Given the description of an element on the screen output the (x, y) to click on. 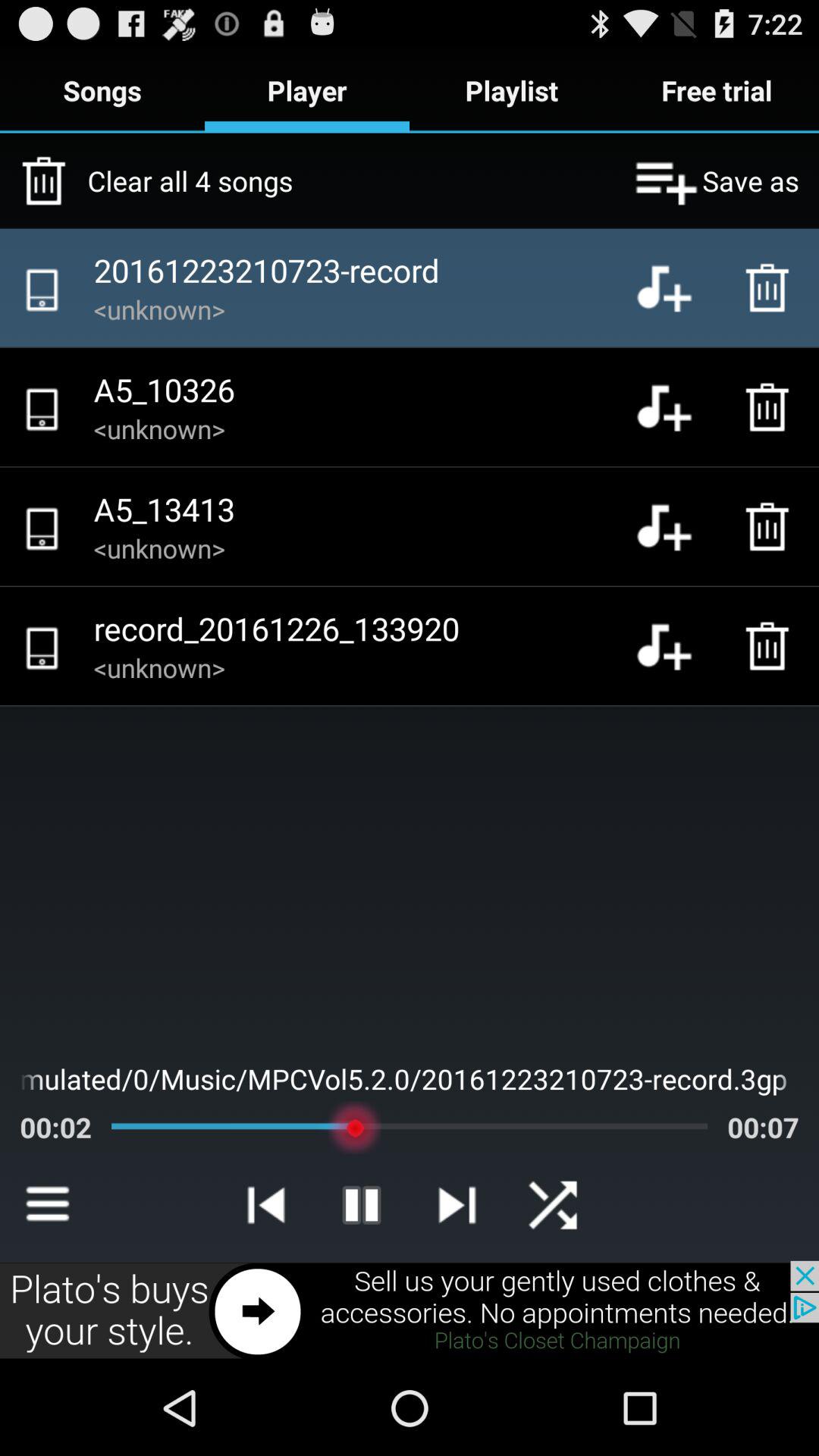
opens an advertisement (409, 1310)
